Given the description of an element on the screen output the (x, y) to click on. 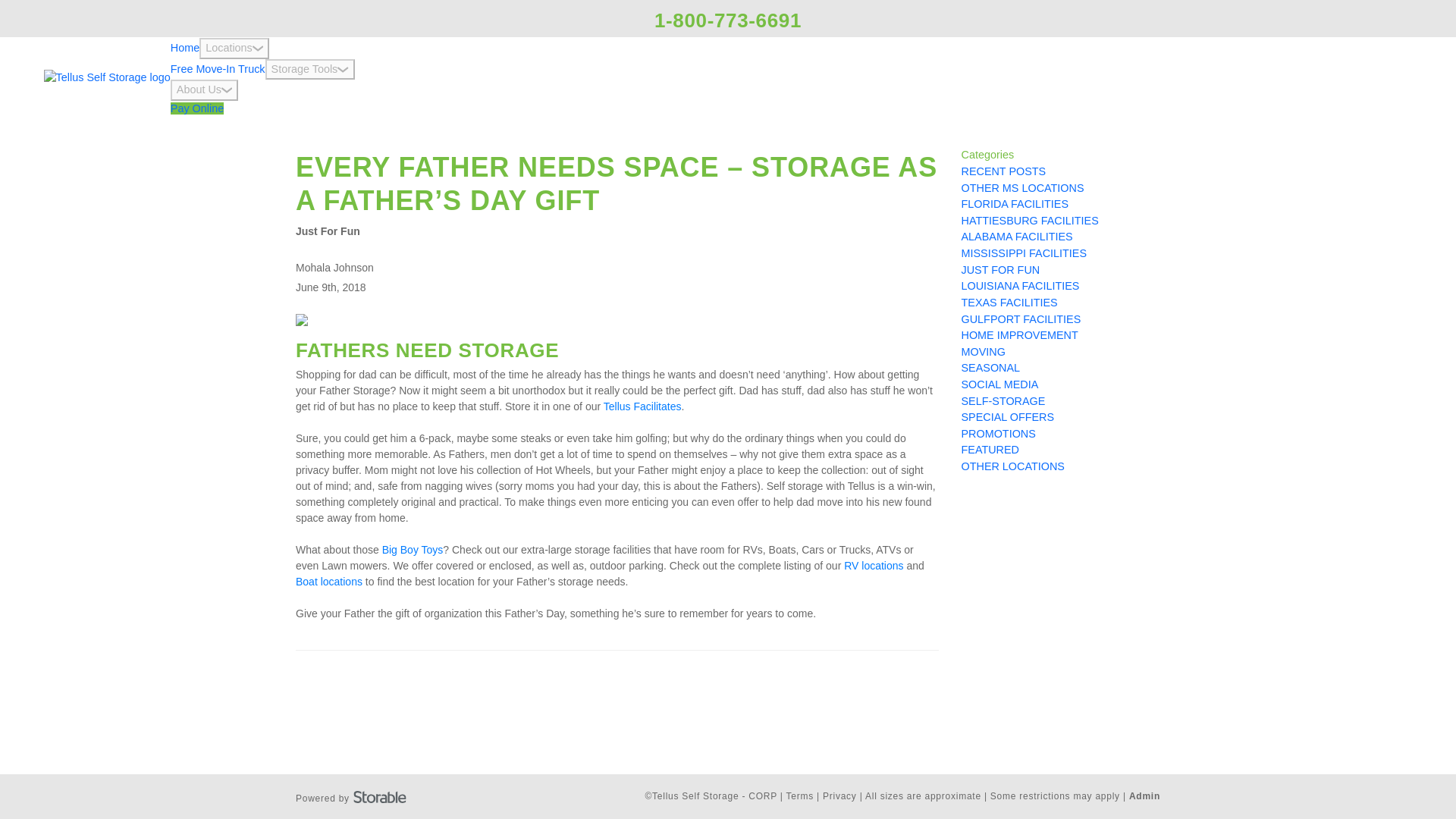
MISSISSIPPI FACILITIES (1023, 253)
Powered by (350, 796)
FLORIDA FACILITIES (1014, 203)
SEASONAL (990, 367)
OTHER MS LOCATIONS (1022, 187)
LOUISIANA FACILITIES (1020, 285)
MOVING (983, 351)
group (226, 90)
T (606, 406)
group (342, 69)
ALABAMA FACILITIES (1016, 236)
SELF-STORAGE (1002, 400)
Storage Toolsgroup (309, 69)
Big Boy Toys (412, 549)
group (257, 48)
